Given the description of an element on the screen output the (x, y) to click on. 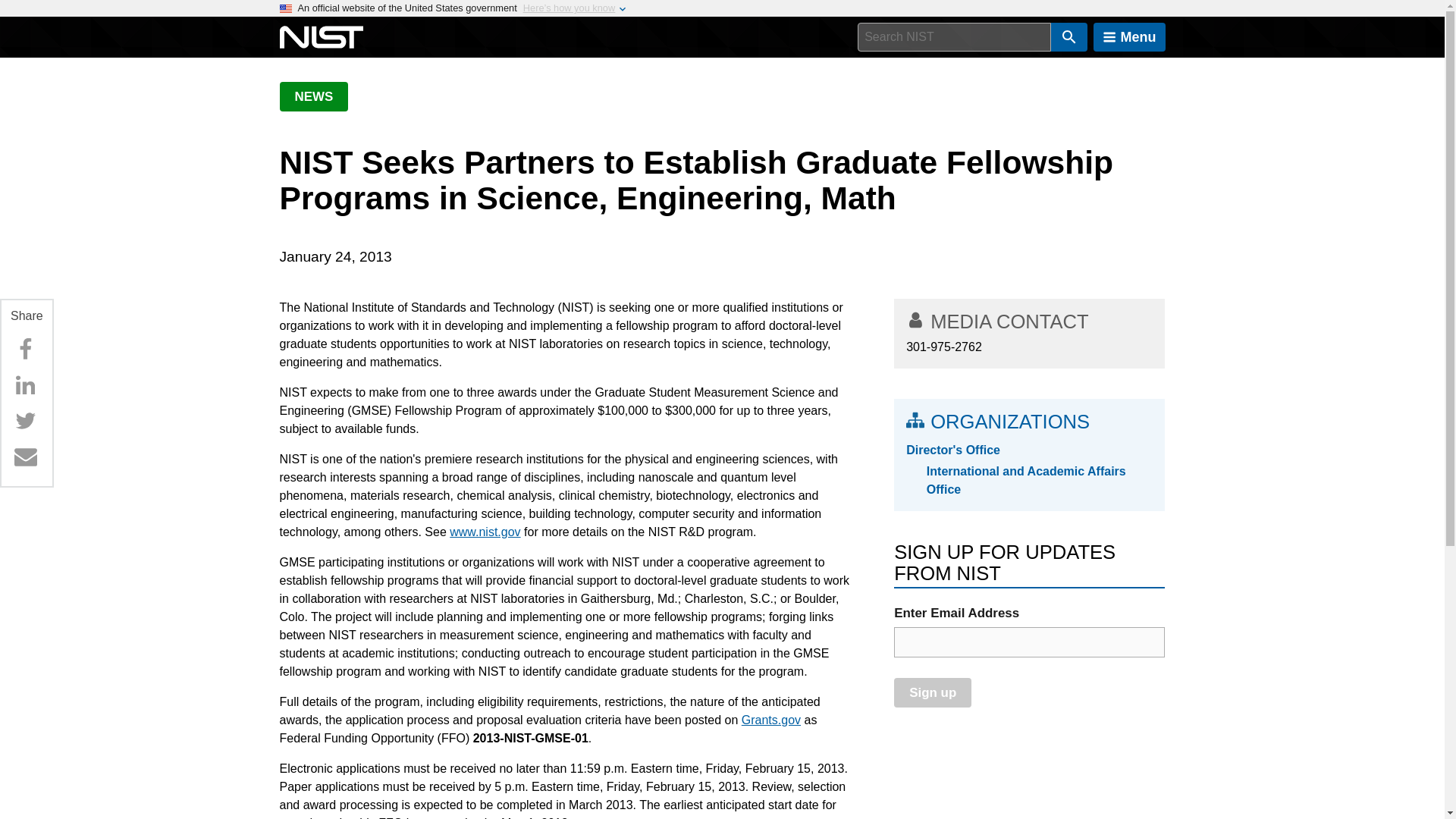
Menu (1129, 36)
Linkedin (25, 385)
Twitter (25, 420)
National Institute of Standards and Technology (320, 36)
Sign up (932, 692)
Grants.gov (770, 719)
NEWS (313, 96)
email (1028, 642)
Facebook (25, 349)
